Given the description of an element on the screen output the (x, y) to click on. 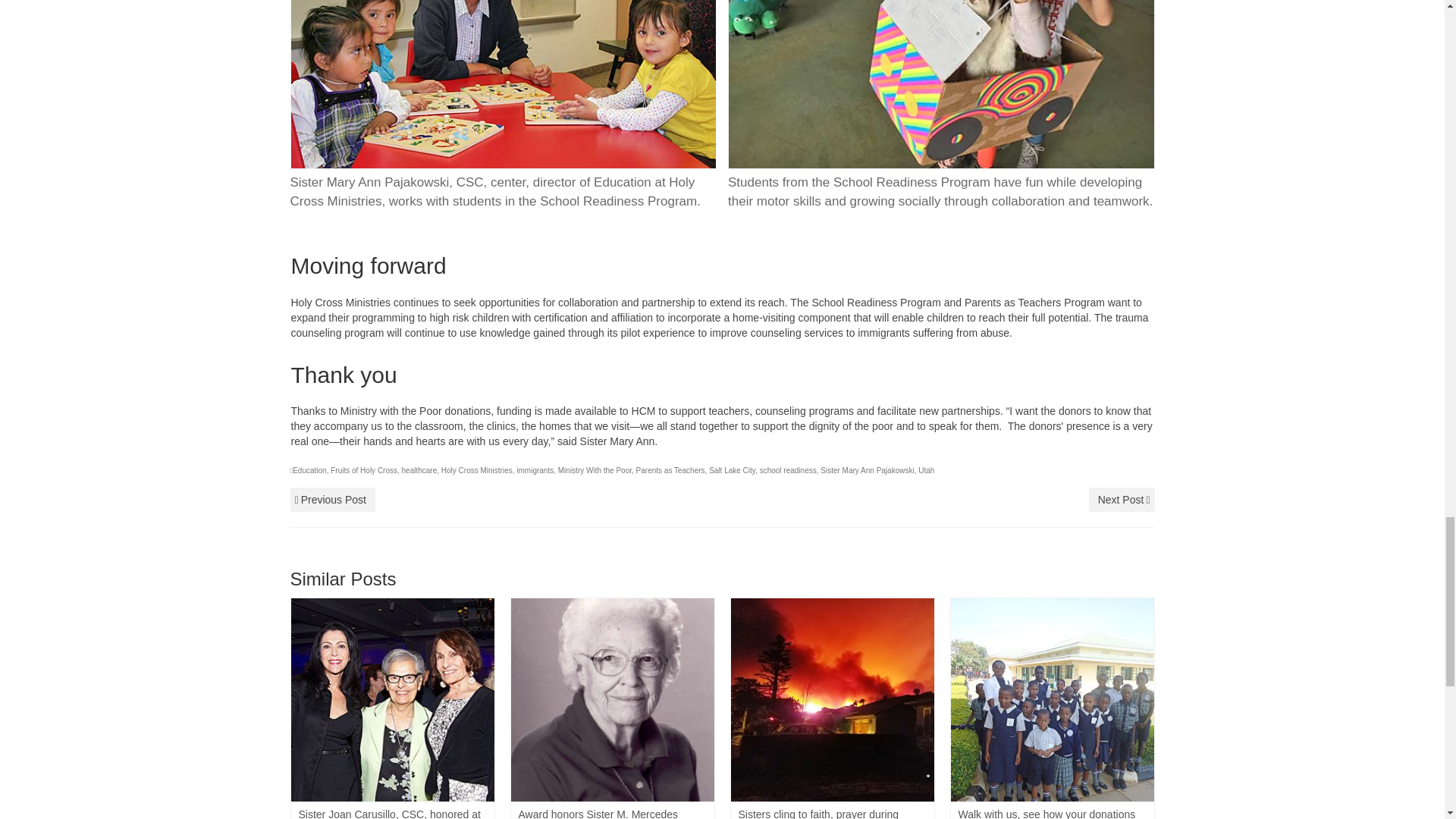
Sister Joan Carusillo, CSC, honored at gala (393, 699)
Sisters cling to faith, prayer during disasters (832, 699)
